Given the description of an element on the screen output the (x, y) to click on. 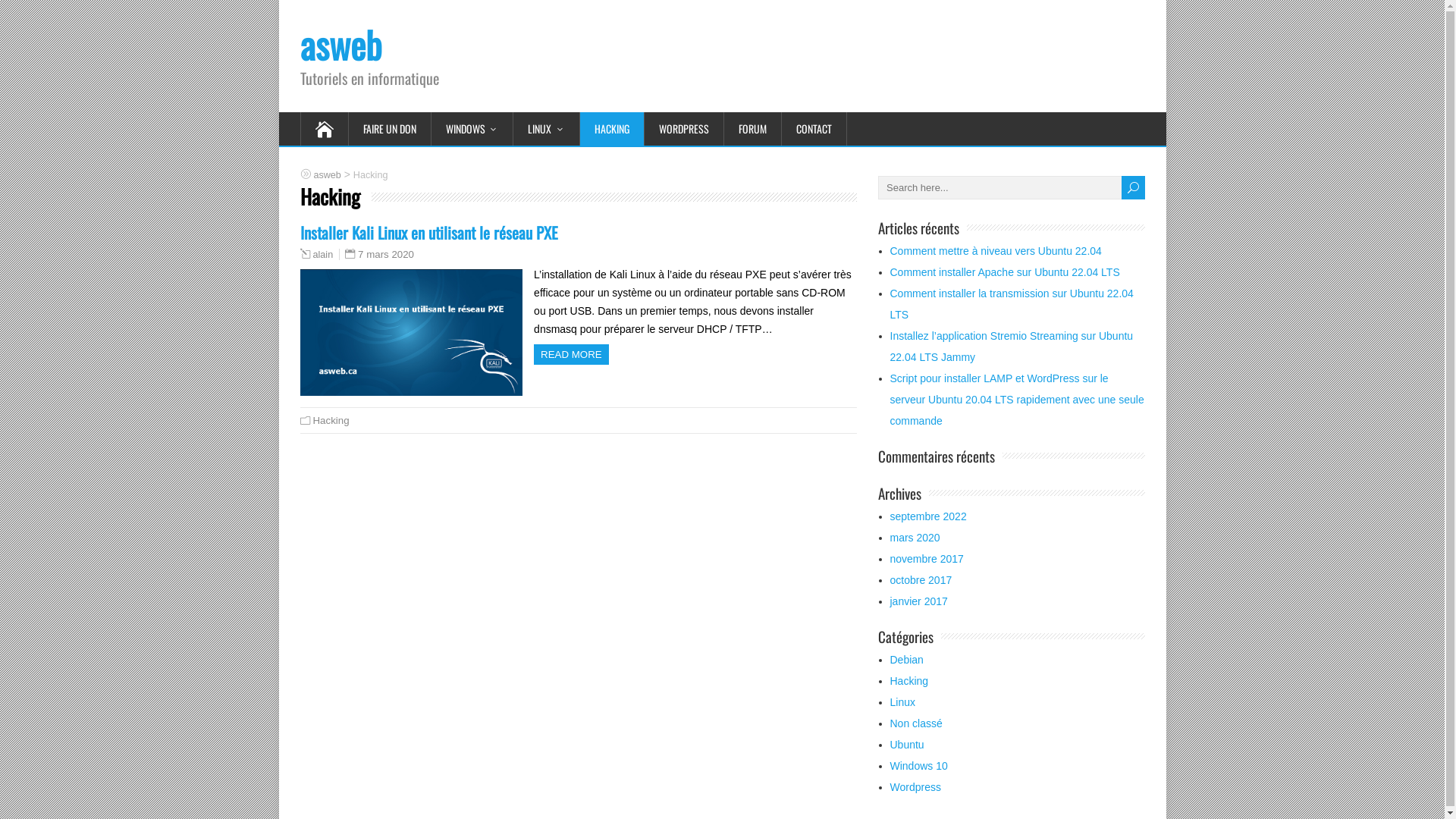
Ubuntu Element type: text (907, 744)
7 mars 2020 Element type: text (385, 254)
LINUX Element type: text (546, 128)
U Element type: text (1132, 187)
READ MORE Element type: text (570, 354)
Hacking Element type: text (330, 420)
Comment installer la transmission sur Ubuntu 22.04 LTS Element type: text (1011, 303)
WINDOWS Element type: text (471, 128)
FORUM Element type: text (752, 128)
Linux Element type: text (902, 702)
FAIRE UN DON Element type: text (389, 128)
WORDPRESS Element type: text (684, 128)
Hacking Element type: text (909, 680)
Debian Element type: text (906, 659)
CONTACT Element type: text (813, 128)
Windows 10 Element type: text (918, 765)
asweb Element type: text (327, 174)
janvier 2017 Element type: text (918, 601)
asweb Element type: text (340, 44)
mars 2020 Element type: text (915, 537)
alain Element type: text (322, 254)
Wordpress Element type: text (915, 787)
octobre 2017 Element type: text (921, 580)
HACKING Element type: text (611, 128)
novembre 2017 Element type: text (926, 558)
septembre 2022 Element type: text (928, 516)
Comment installer Apache sur Ubuntu 22.04 LTS Element type: text (1005, 272)
